Given the description of an element on the screen output the (x, y) to click on. 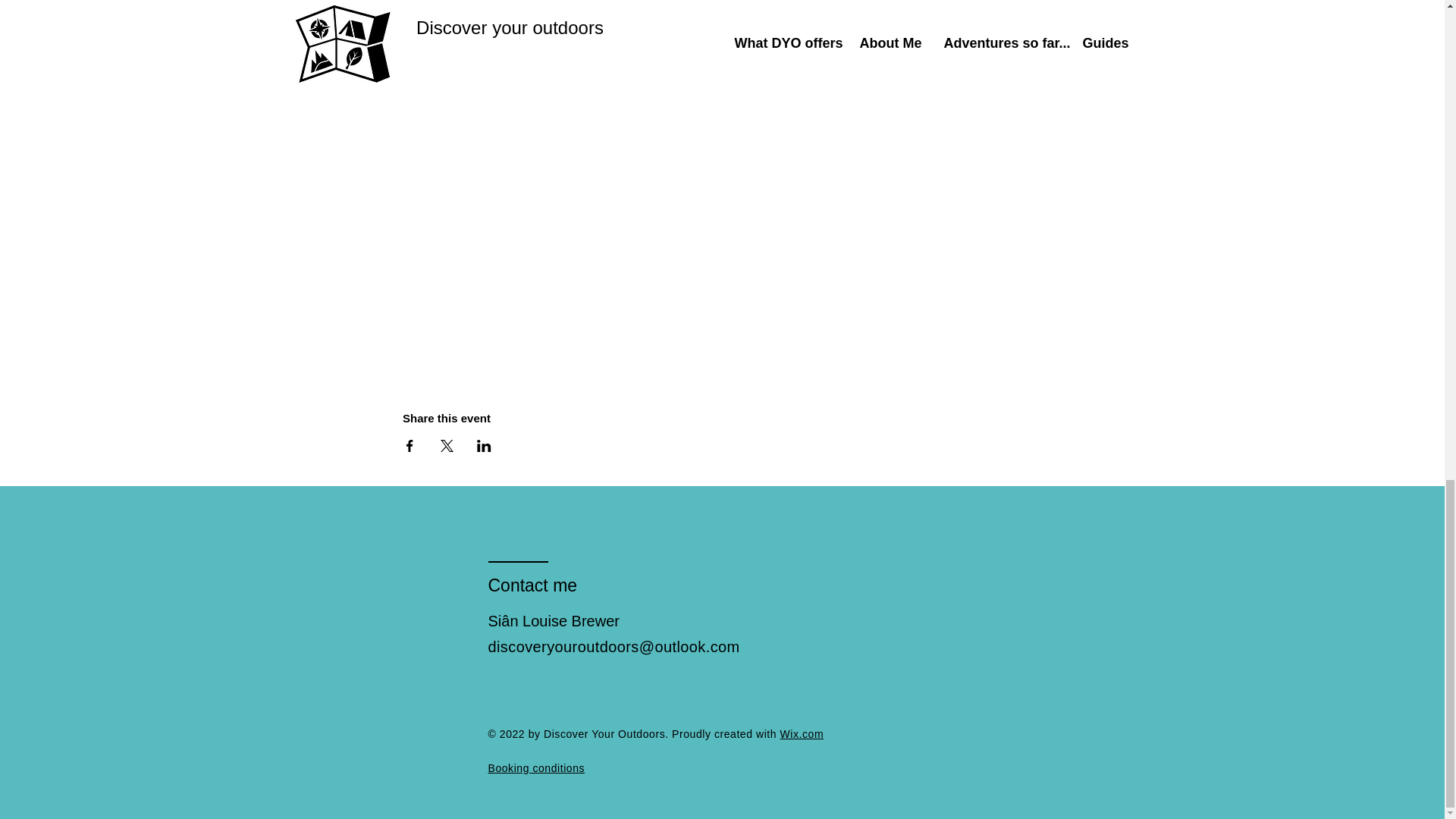
Checkout (914, 48)
Wix.com (802, 734)
Booking conditions (536, 767)
